Given the description of an element on the screen output the (x, y) to click on. 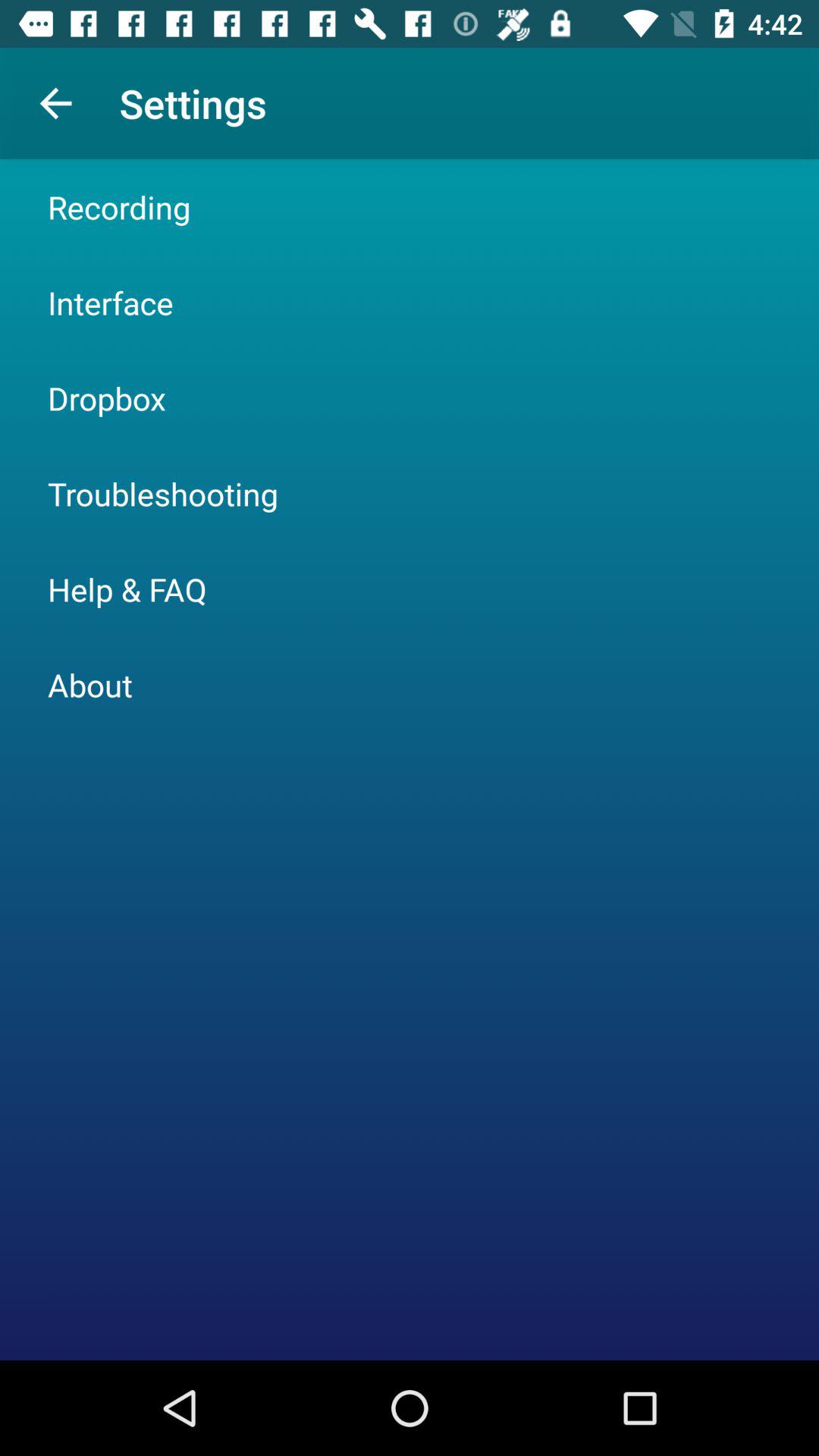
jump until the help & faq (127, 588)
